Given the description of an element on the screen output the (x, y) to click on. 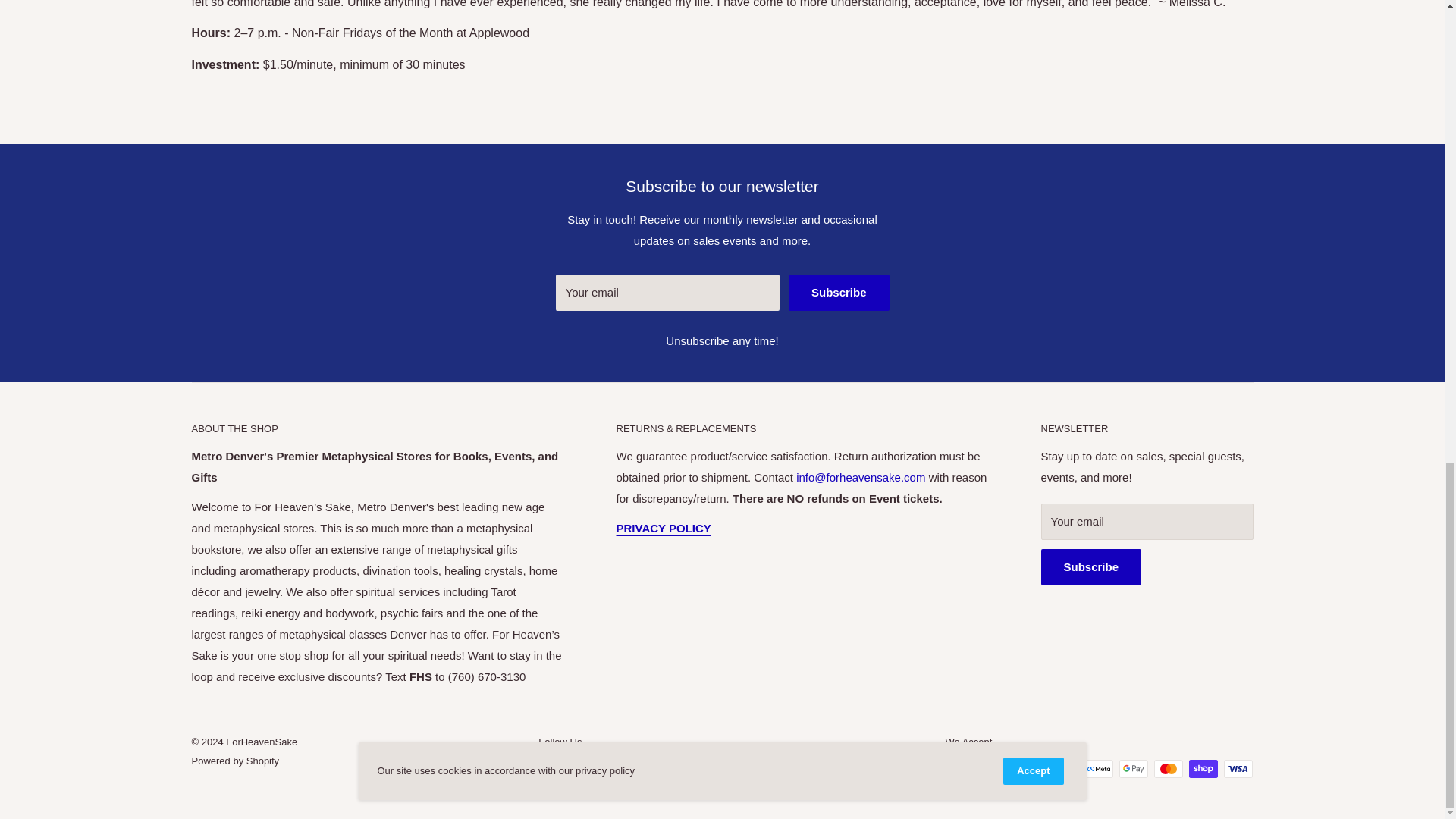
Privacy Policy (662, 527)
